Given the description of an element on the screen output the (x, y) to click on. 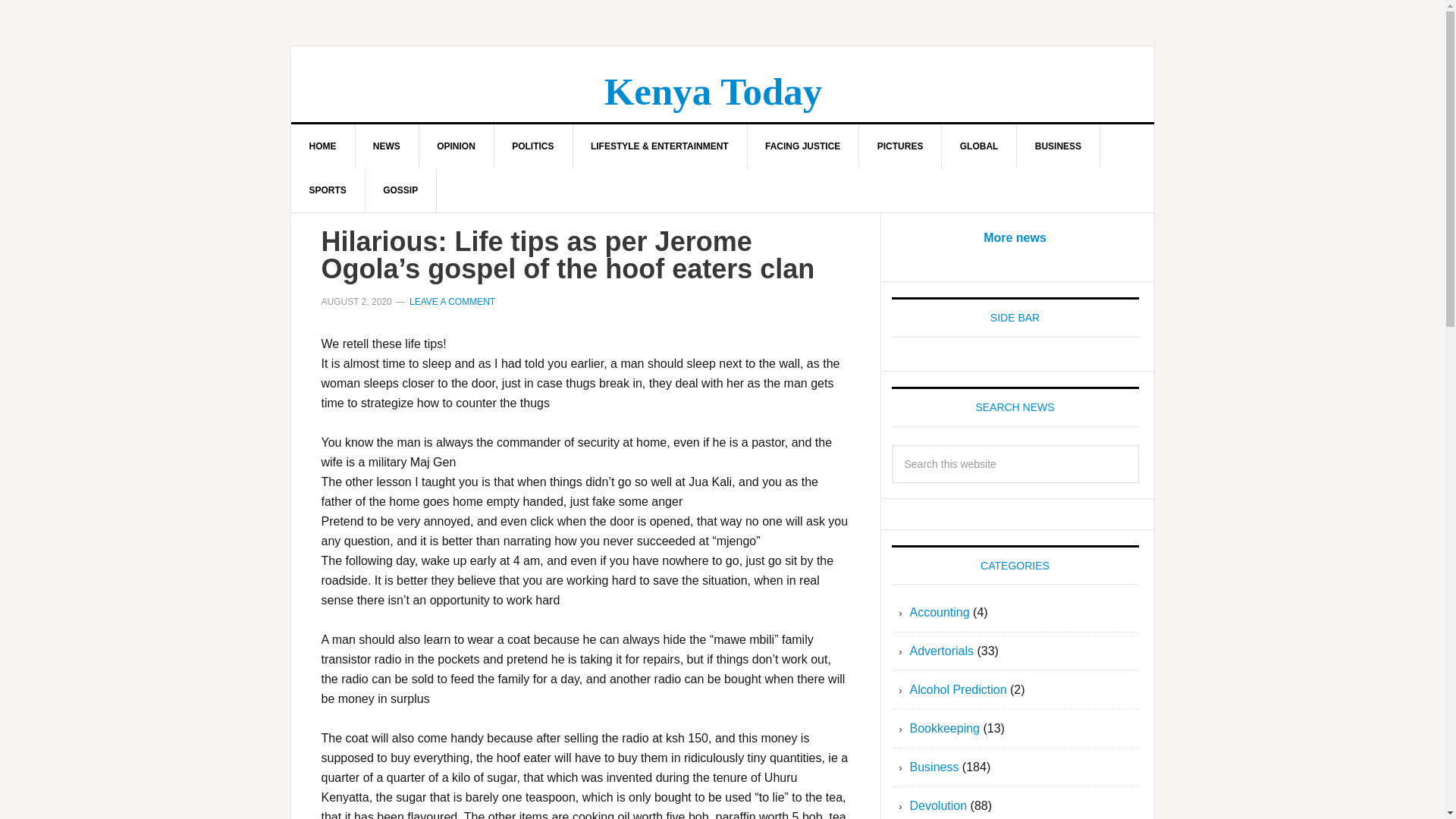
NEWS (387, 146)
GOSSIP (400, 190)
More news (1015, 237)
OPINION (457, 146)
POLITICS (532, 146)
Advertorials (942, 650)
BUSINESS (1058, 146)
Bookkeeping (944, 727)
